Given the description of an element on the screen output the (x, y) to click on. 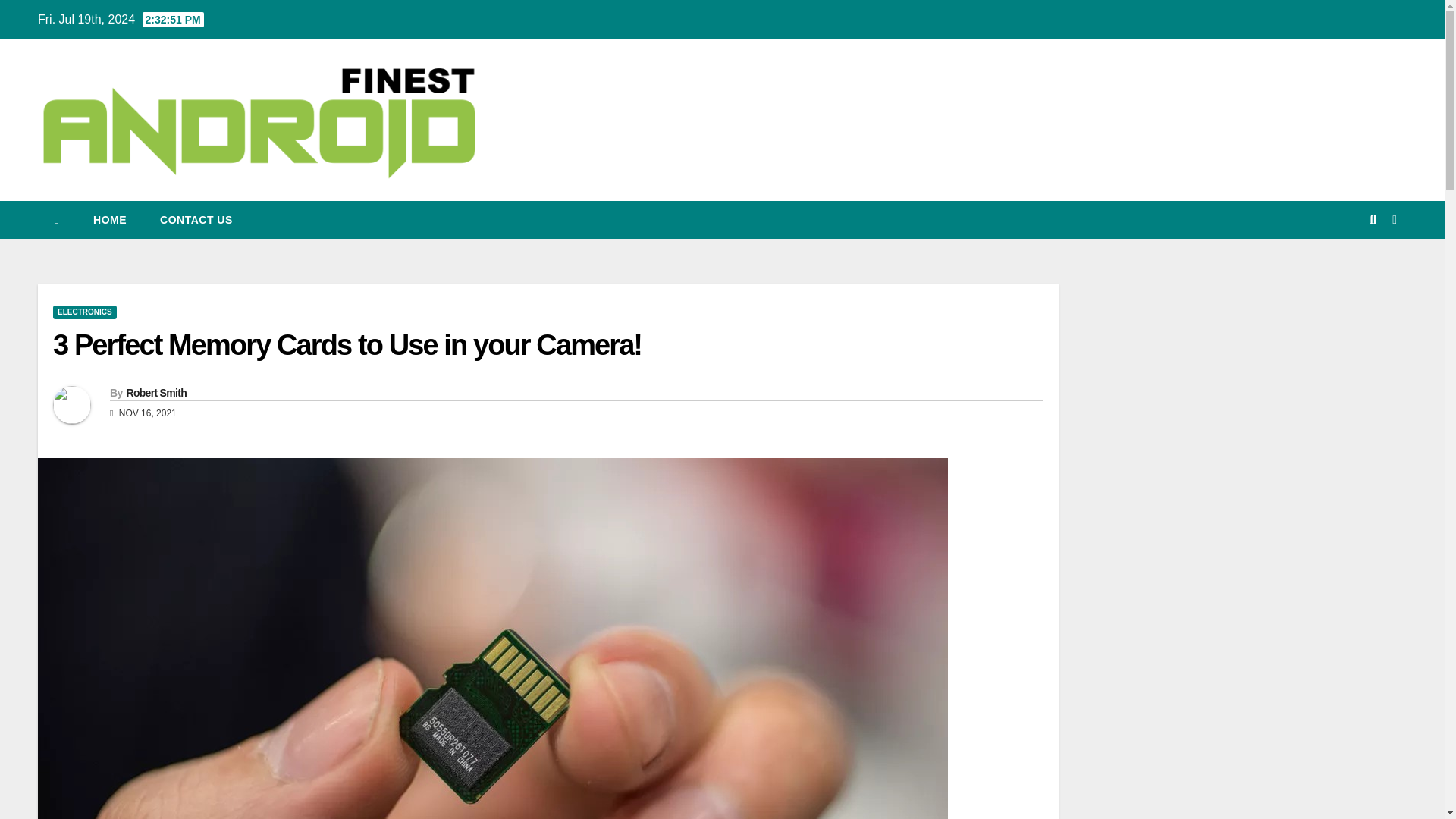
Permalink to: 3 Perfect Memory Cards to Use in your Camera! (347, 345)
CONTACT US (195, 219)
3 Perfect Memory Cards to Use in your Camera! (347, 345)
Robert Smith (155, 392)
Home (109, 219)
Contact us (195, 219)
HOME (109, 219)
ELECTRONICS (84, 312)
